Given the description of an element on the screen output the (x, y) to click on. 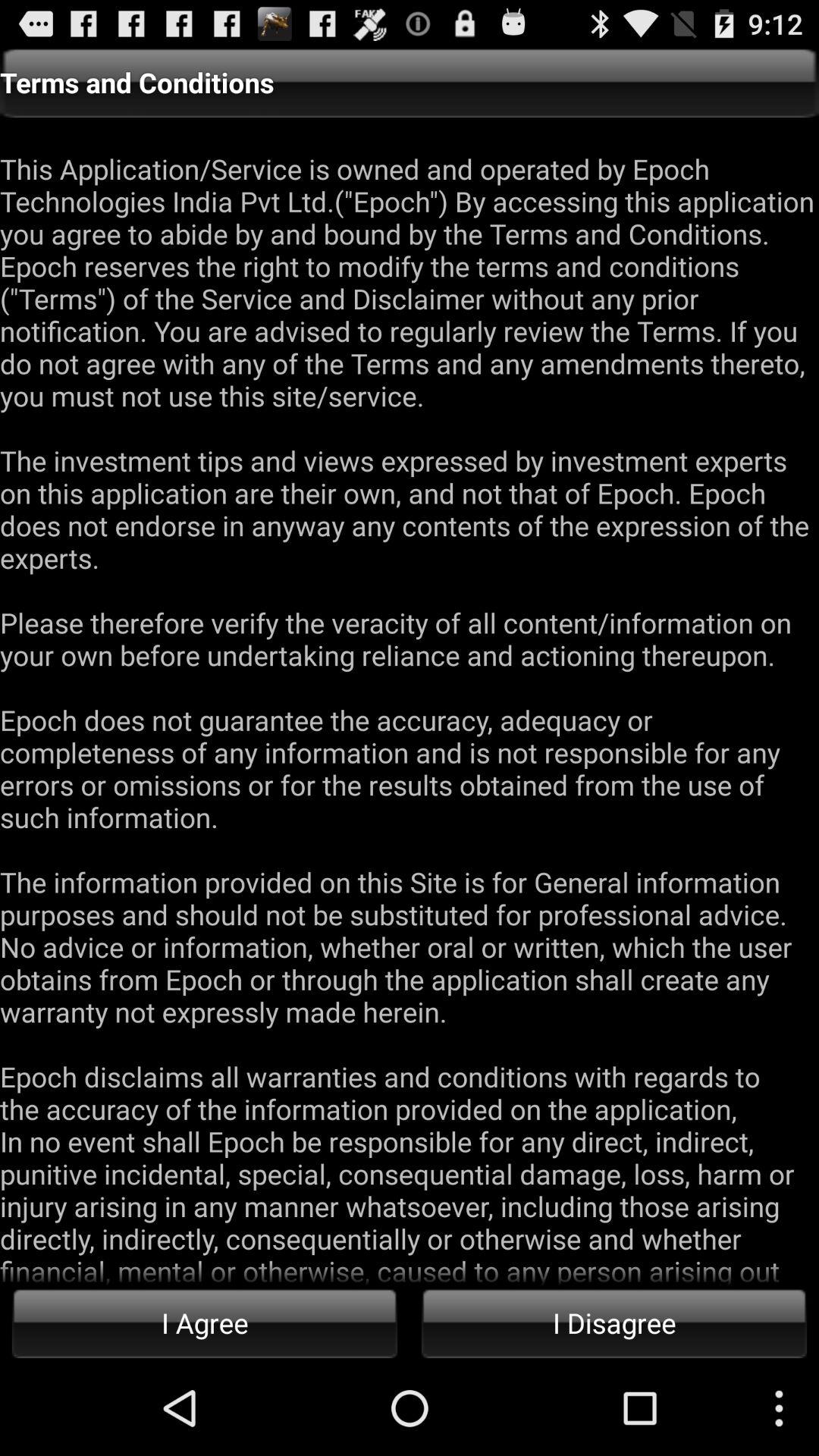
click the icon below this application service icon (204, 1323)
